Given the description of an element on the screen output the (x, y) to click on. 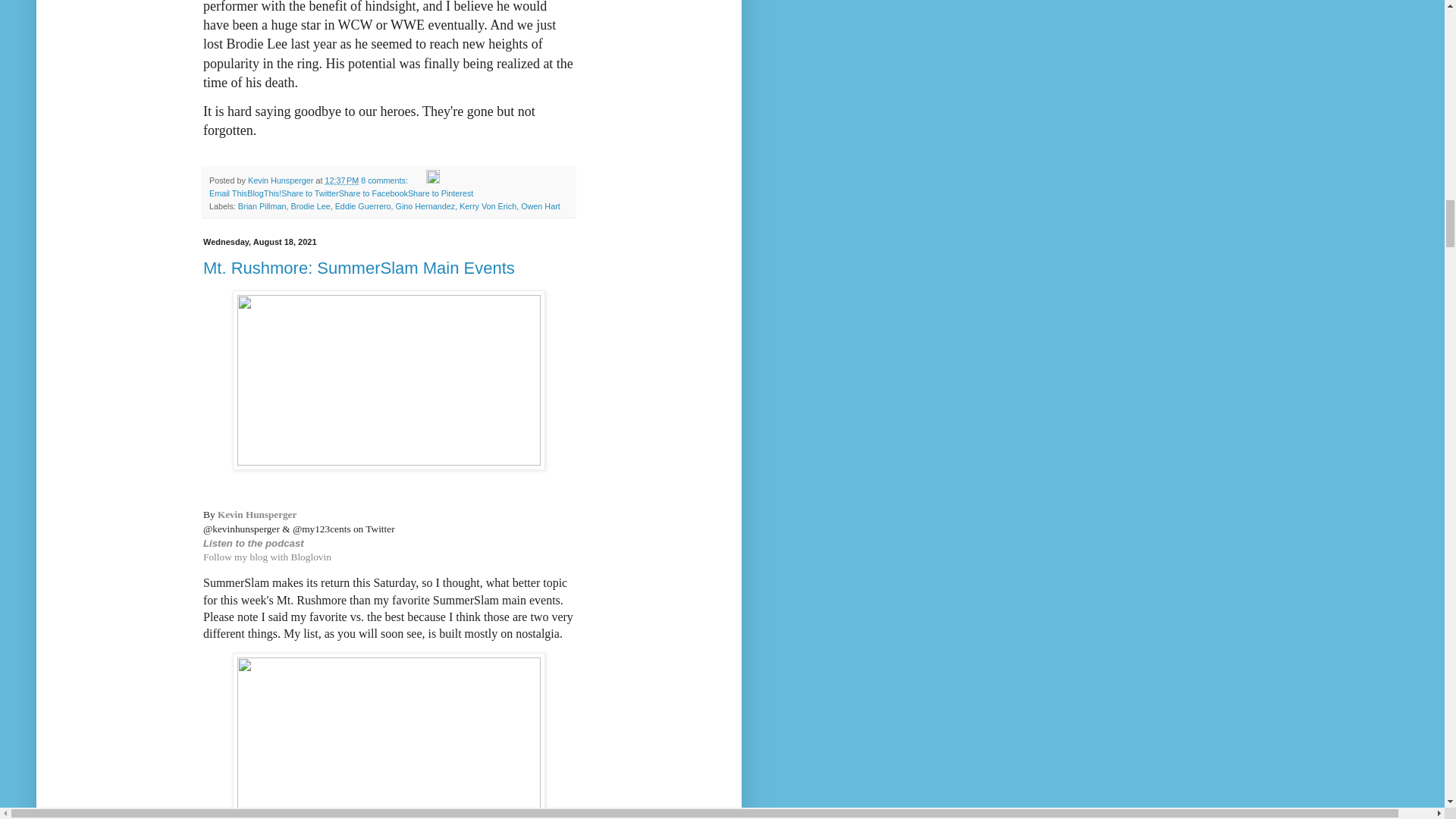
Kerry Von Erich (488, 205)
Brodie Lee (309, 205)
Share to Facebook (373, 193)
Mt. Rushmore: SummerSlam Main Events (359, 267)
Share to Facebook (373, 193)
Kevin Hunsperger (256, 514)
Kevin Hunsperger (281, 180)
BlogThis! (264, 193)
Email This (228, 193)
Share to Twitter (309, 193)
Share to Twitter (309, 193)
Share to Pinterest (440, 193)
Gino Hernandez (425, 205)
8 comments: (385, 180)
